Given the description of an element on the screen output the (x, y) to click on. 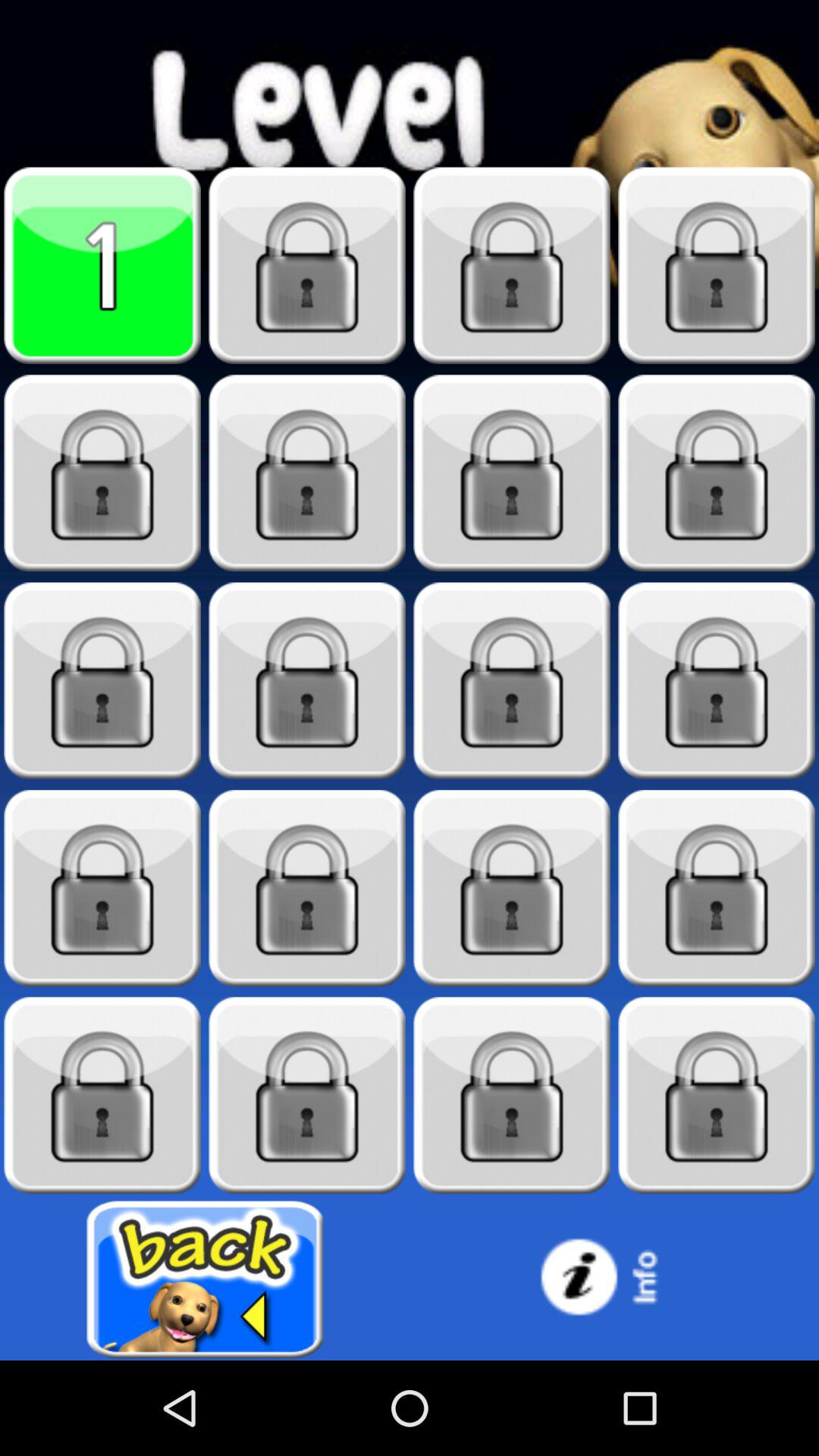
unlock level (716, 887)
